Given the description of an element on the screen output the (x, y) to click on. 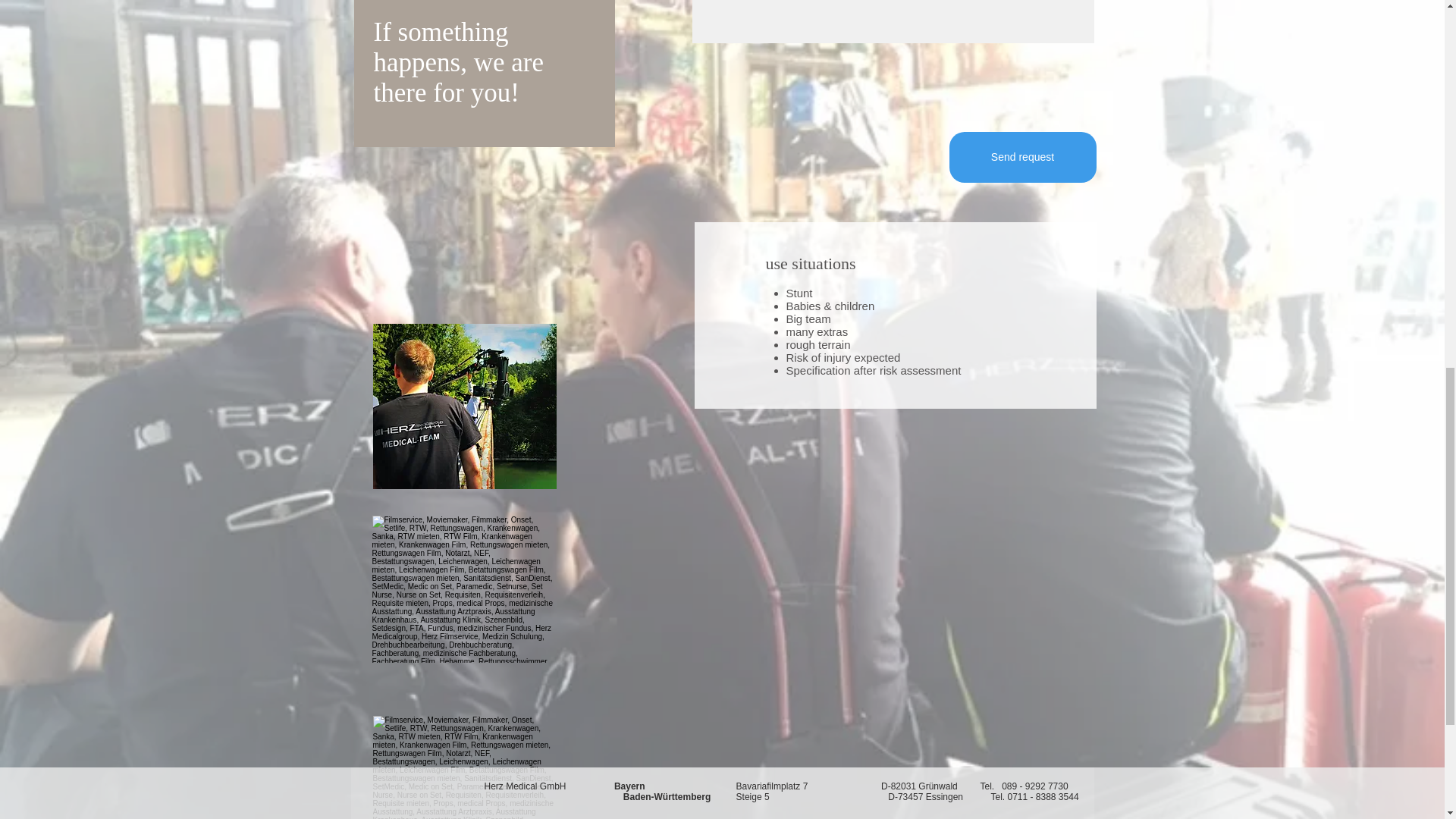
Send request (1022, 156)
Stuntabsicherung (462, 588)
SetMedic (464, 405)
